Given the description of an element on the screen output the (x, y) to click on. 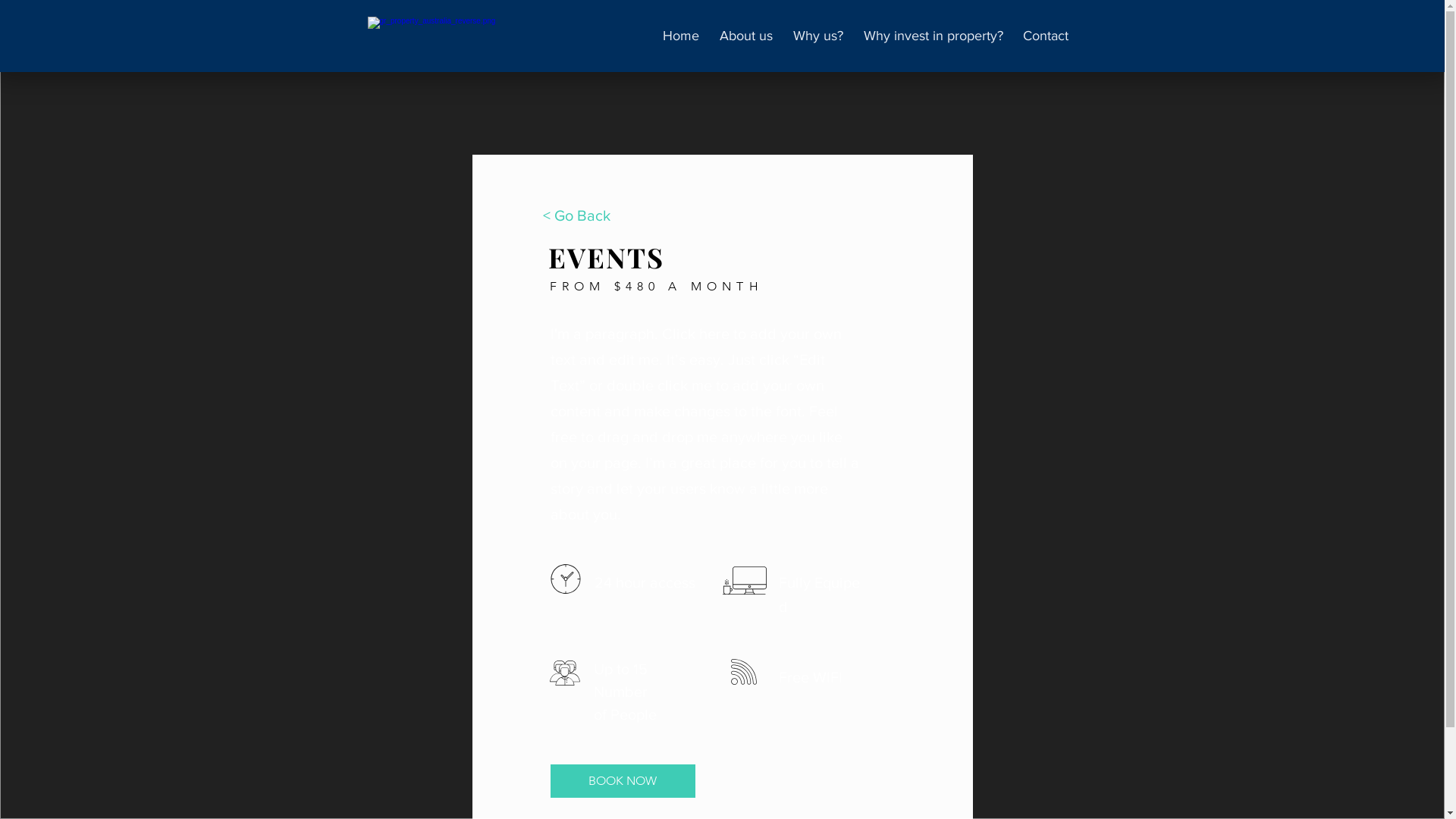
Why us? Element type: text (814, 35)
BOOK NOW Element type: text (622, 780)
Why invest in property? Element type: text (930, 35)
Contact Element type: text (1042, 35)
Home Element type: text (677, 35)
< Go Back Element type: text (576, 215)
About us Element type: text (743, 35)
